Given the description of an element on the screen output the (x, y) to click on. 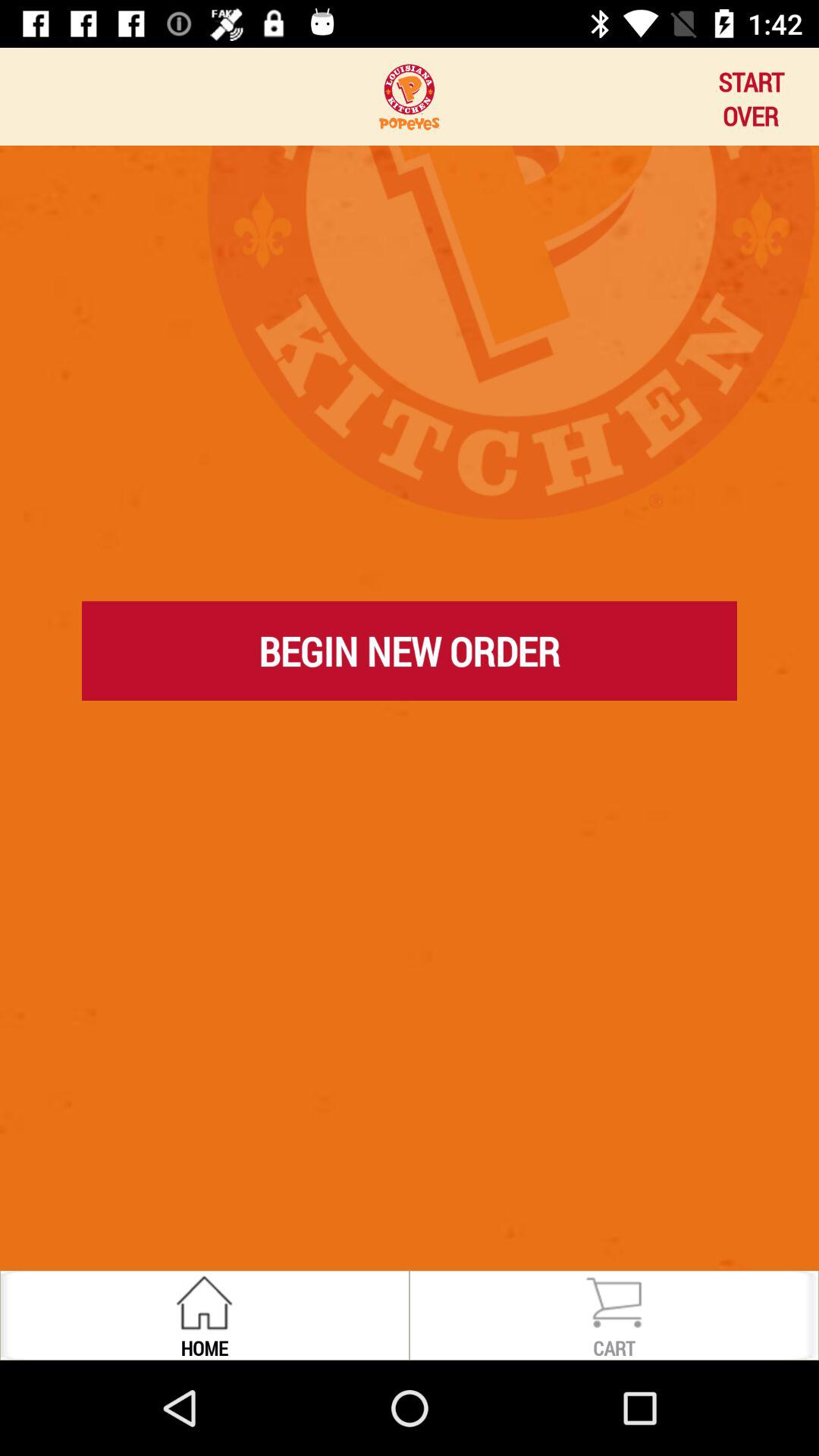
launch start over (750, 96)
